Given the description of an element on the screen output the (x, y) to click on. 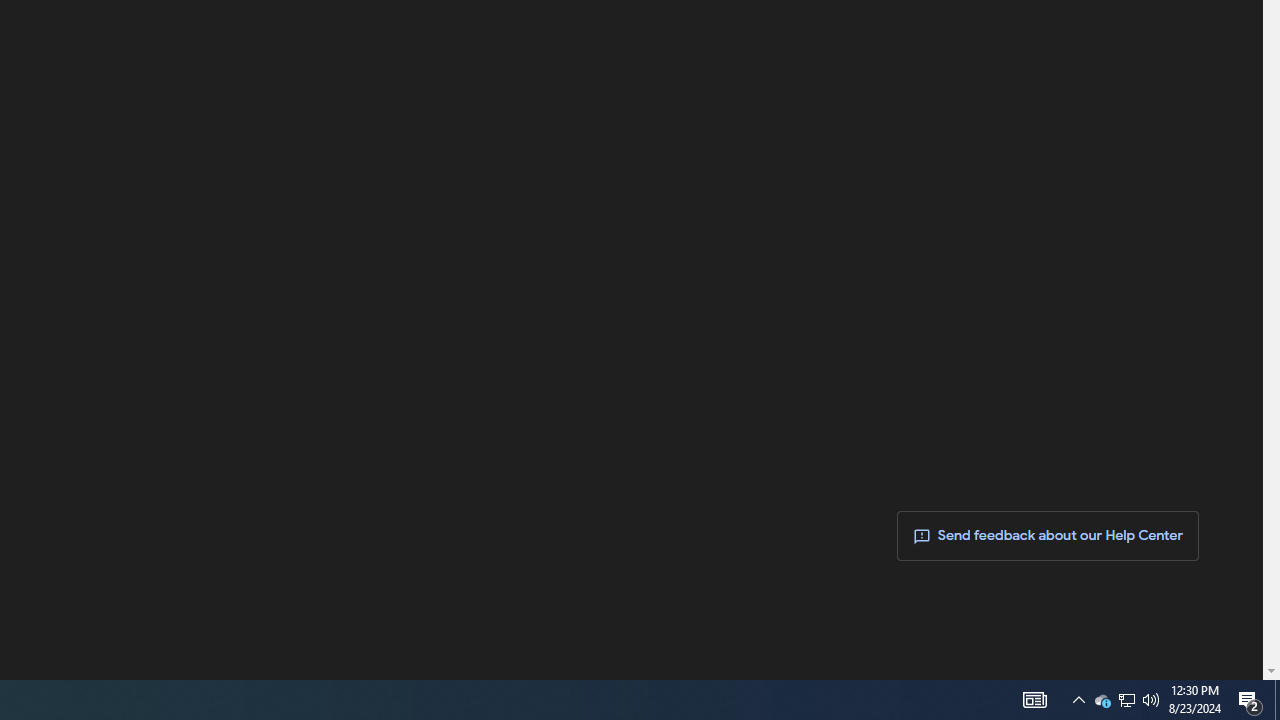
 Send feedback about our Help Center (1048, 536)
